Given the description of an element on the screen output the (x, y) to click on. 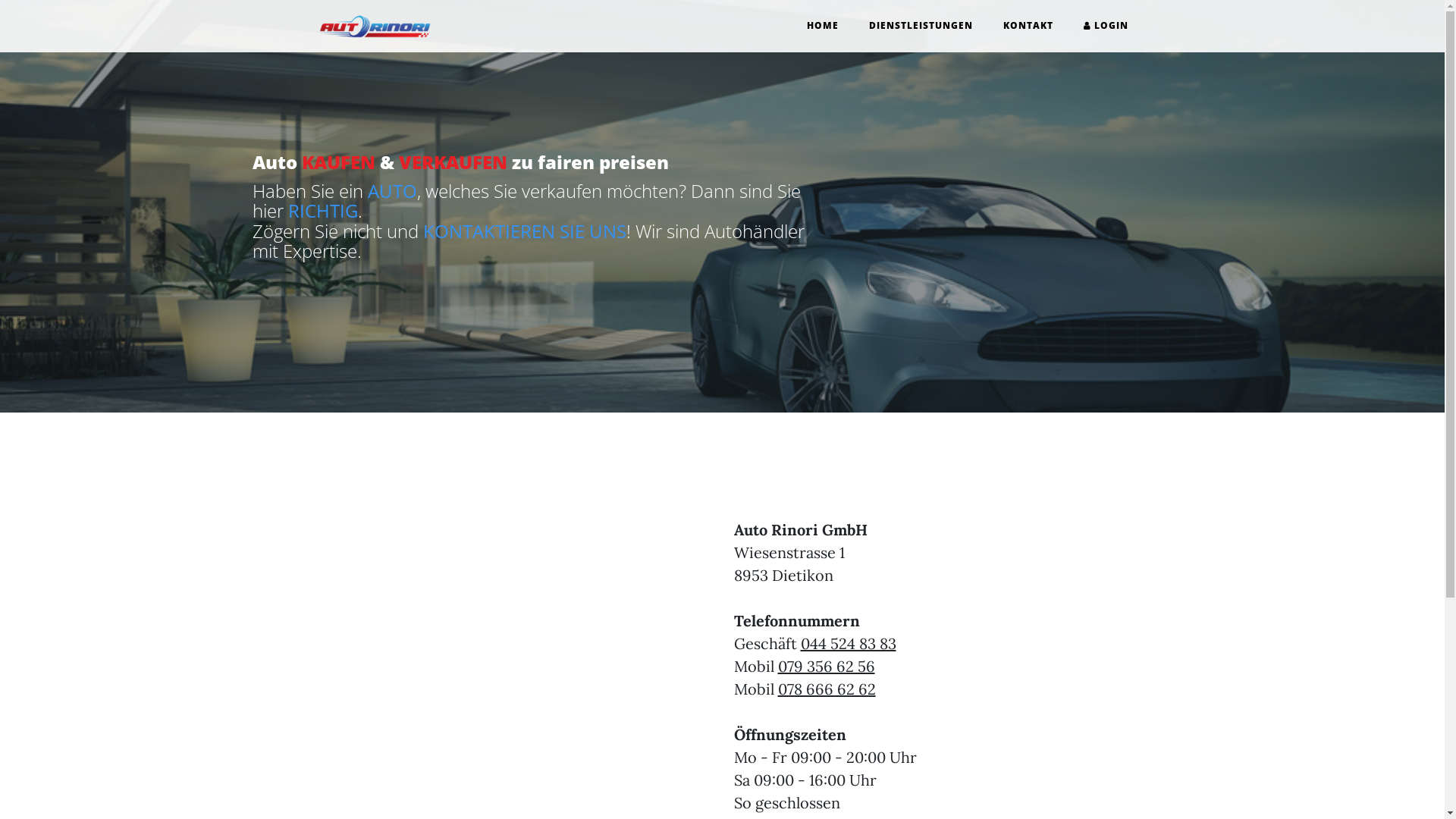
DIENSTLEISTUNGEN Element type: text (920, 25)
LOGIN Element type: text (1104, 25)
HOME Element type: text (822, 25)
044 524 83 83 Element type: text (848, 642)
078 666 62 62 Element type: text (826, 688)
079 356 62 56 Element type: text (826, 665)
KONTAKT Element type: text (1027, 25)
